Given the description of an element on the screen output the (x, y) to click on. 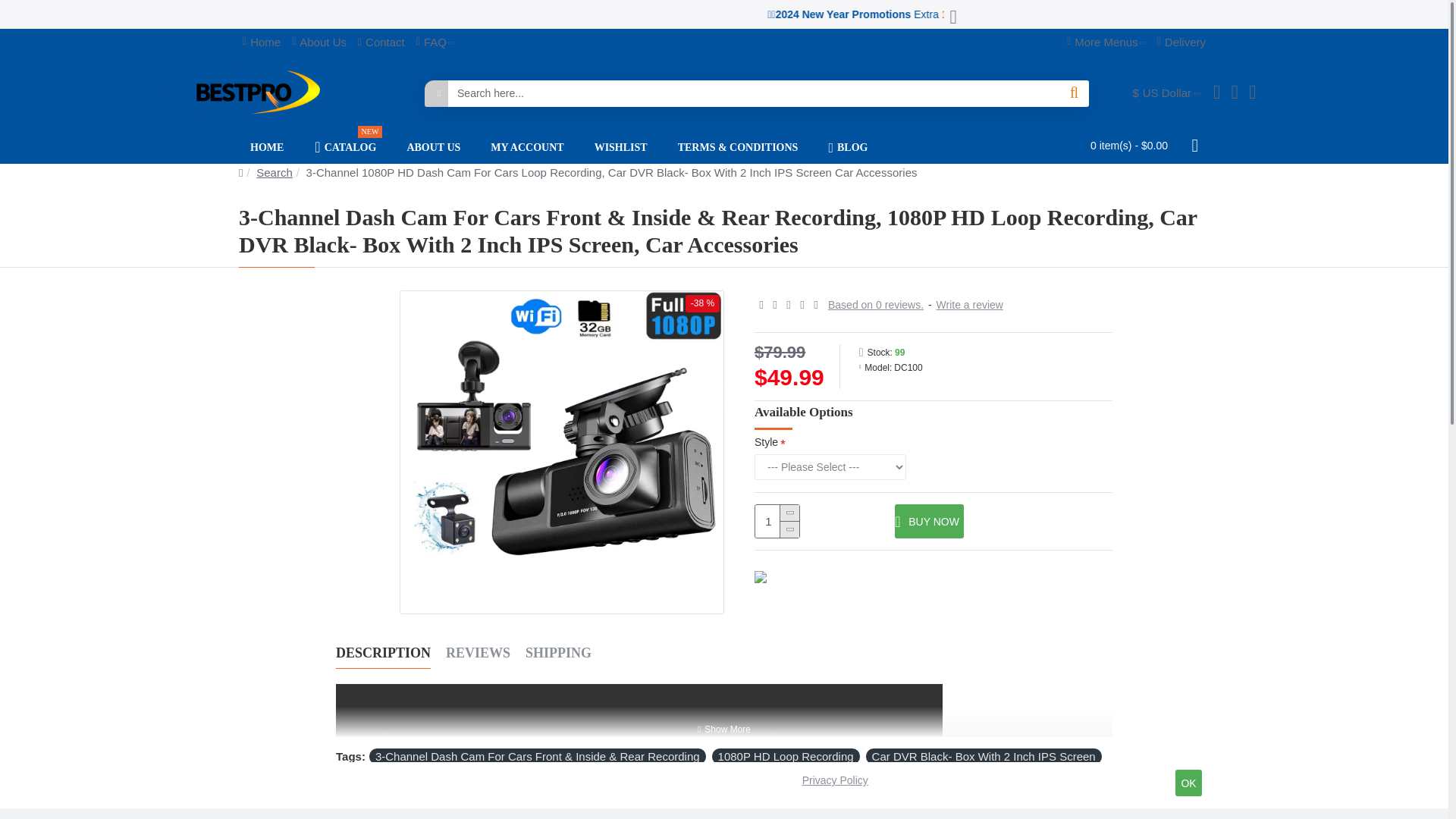
FAQ (435, 41)
Delivery (1181, 42)
HOME (266, 147)
1 (777, 521)
Contact (344, 147)
About Us (381, 41)
Home (319, 41)
More Menus (260, 41)
